Given the description of an element on the screen output the (x, y) to click on. 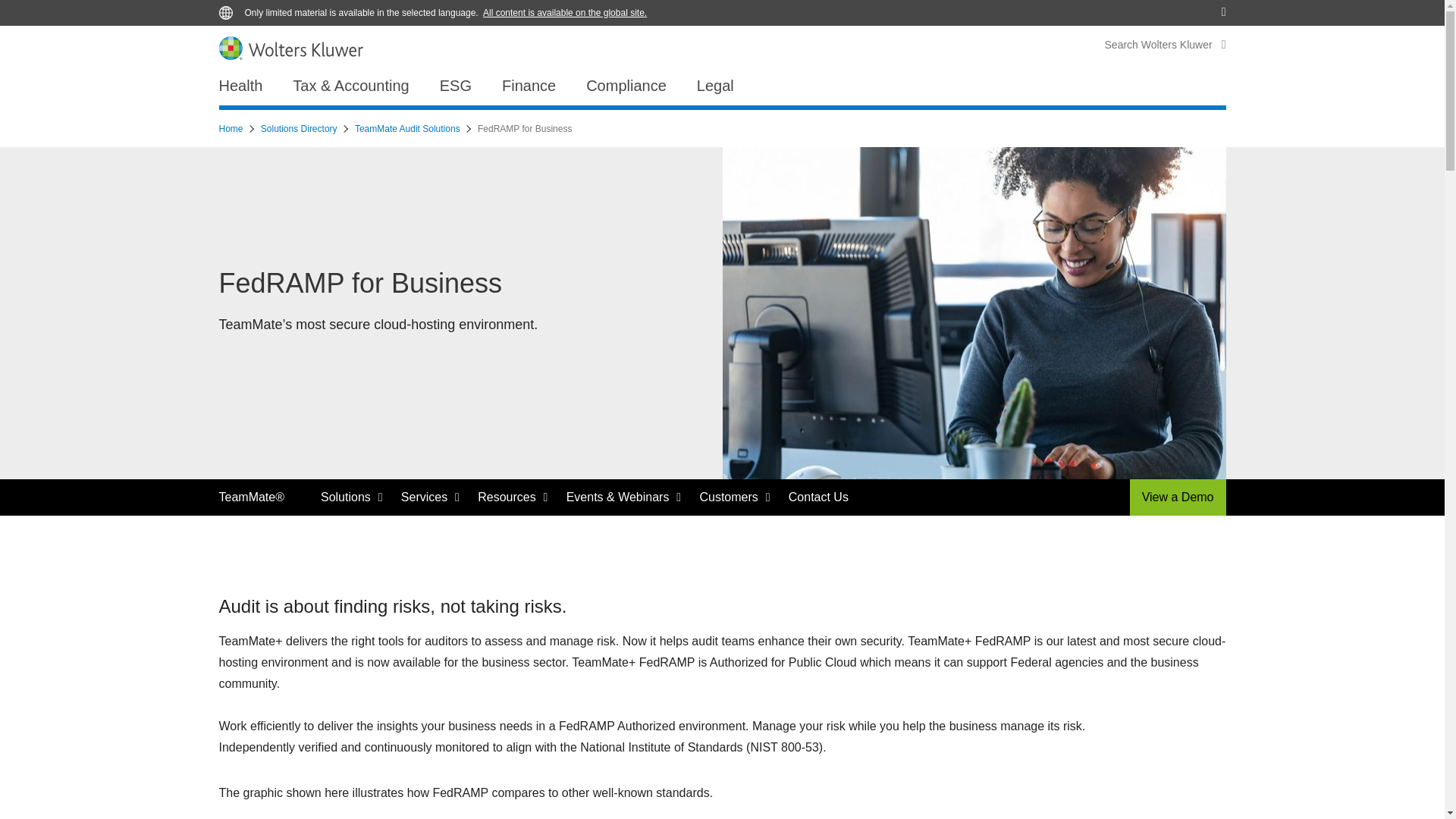
Logo (290, 47)
SOLUTIONS DIRECTORY (1010, 8)
About Wolters Kluwer (274, 7)
CAREERS (1103, 8)
INVESTORS (1168, 8)
All content is available on the global site. (564, 12)
